Given the description of an element on the screen output the (x, y) to click on. 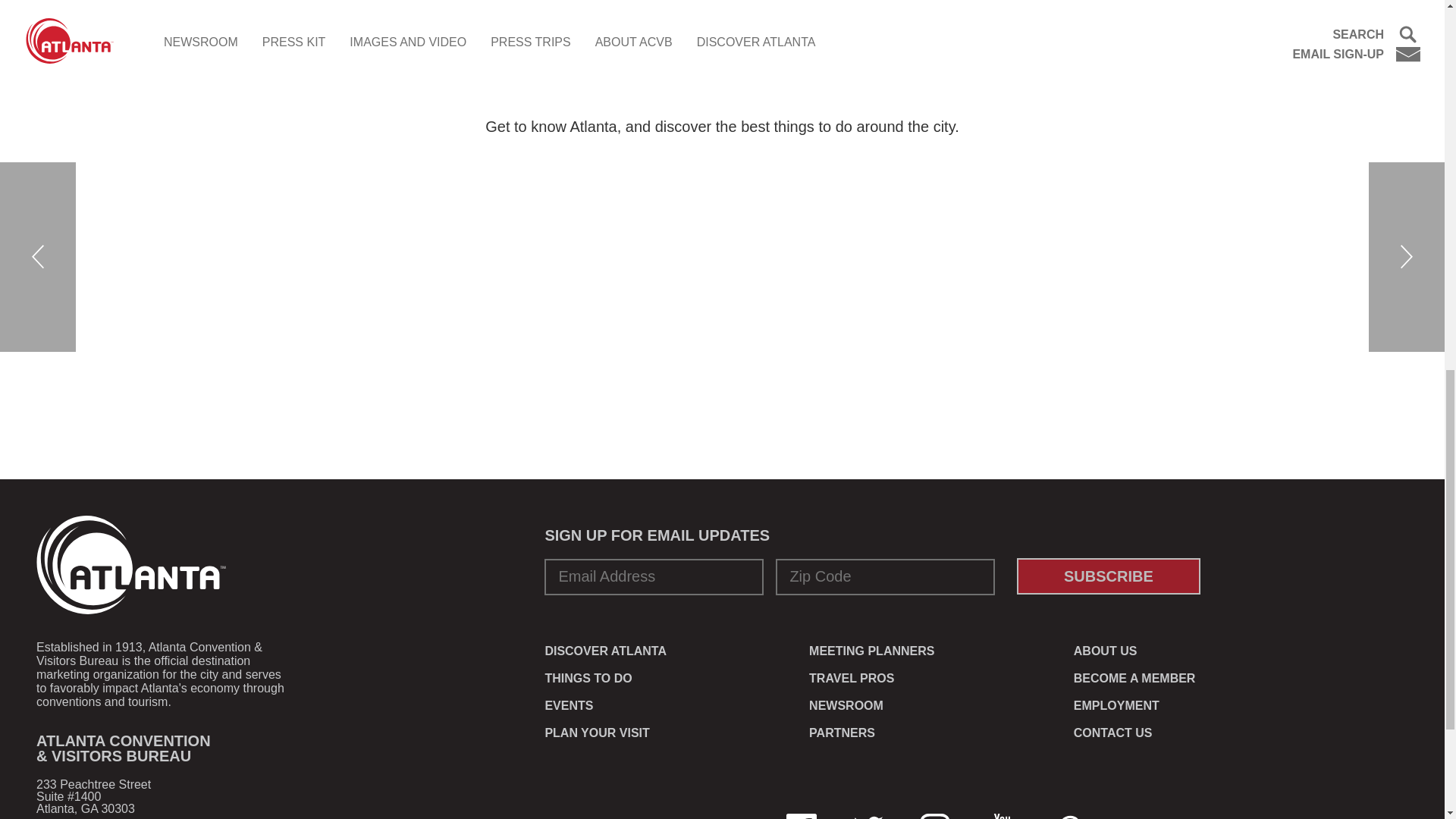
MEETING PLANNERS (871, 650)
ABOUT US (1105, 650)
PARTNERS (842, 732)
NEWSROOM (846, 705)
Subscribe (1107, 575)
THINGS TO DO (587, 677)
Subscribe (1107, 575)
TRAVEL PROS (851, 677)
BECOME A MEMBER (1134, 677)
DISCOVER ATLANTA (605, 650)
EVENTS (568, 705)
EMPLOYMENT (1116, 705)
CONTACT US (1113, 732)
PLAN YOUR VISIT (596, 732)
